Given the description of an element on the screen output the (x, y) to click on. 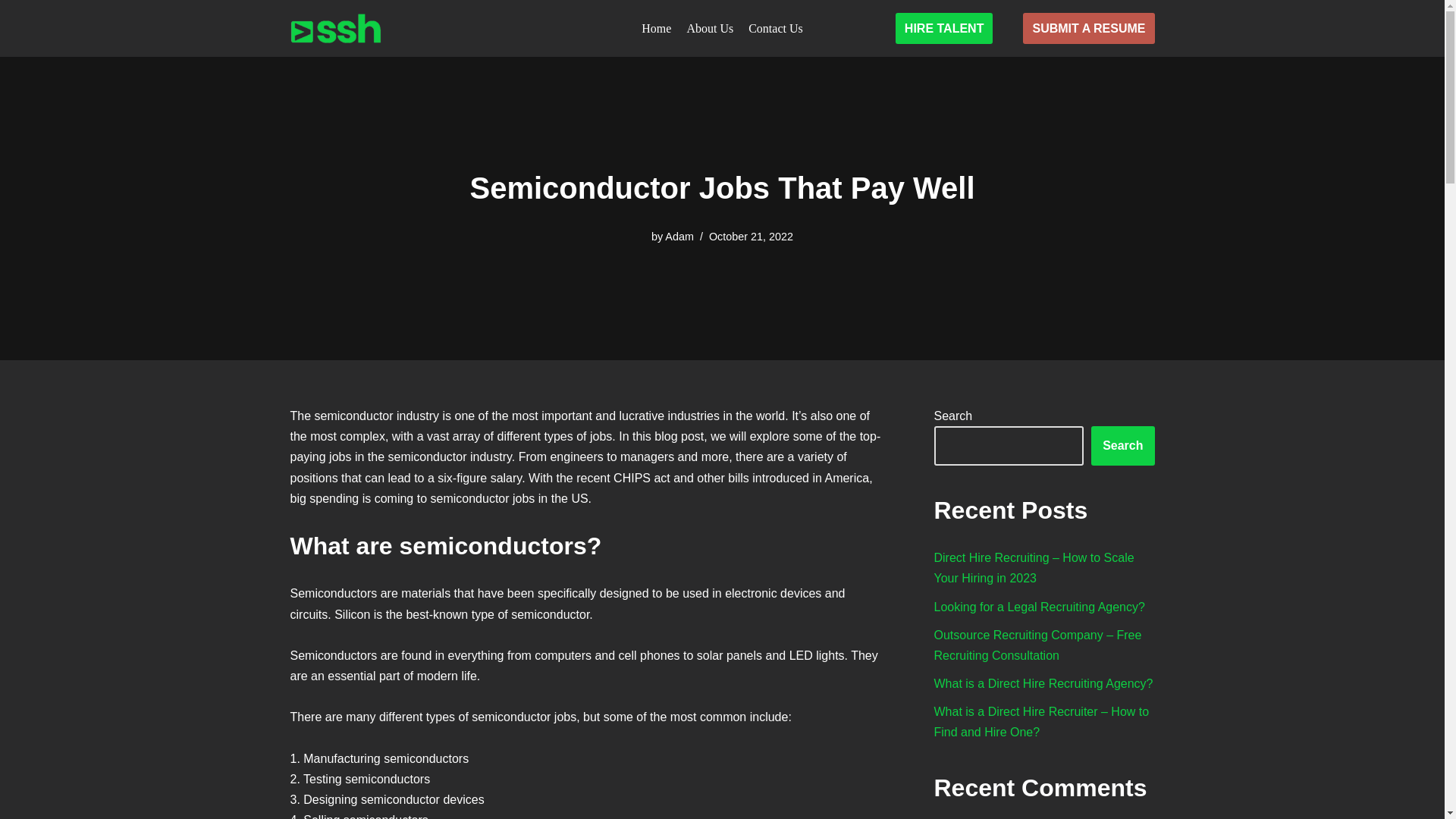
Search (1122, 445)
SSH Staffing (334, 28)
Home (656, 28)
About Us (709, 28)
Adam (679, 236)
What is a Direct Hire Recruiting Agency? (1043, 683)
Contact Us (775, 28)
Skip to content (11, 31)
Looking for a Legal Recruiting Agency? (1039, 606)
SUBMIT A RESUME (1088, 29)
